Given the description of an element on the screen output the (x, y) to click on. 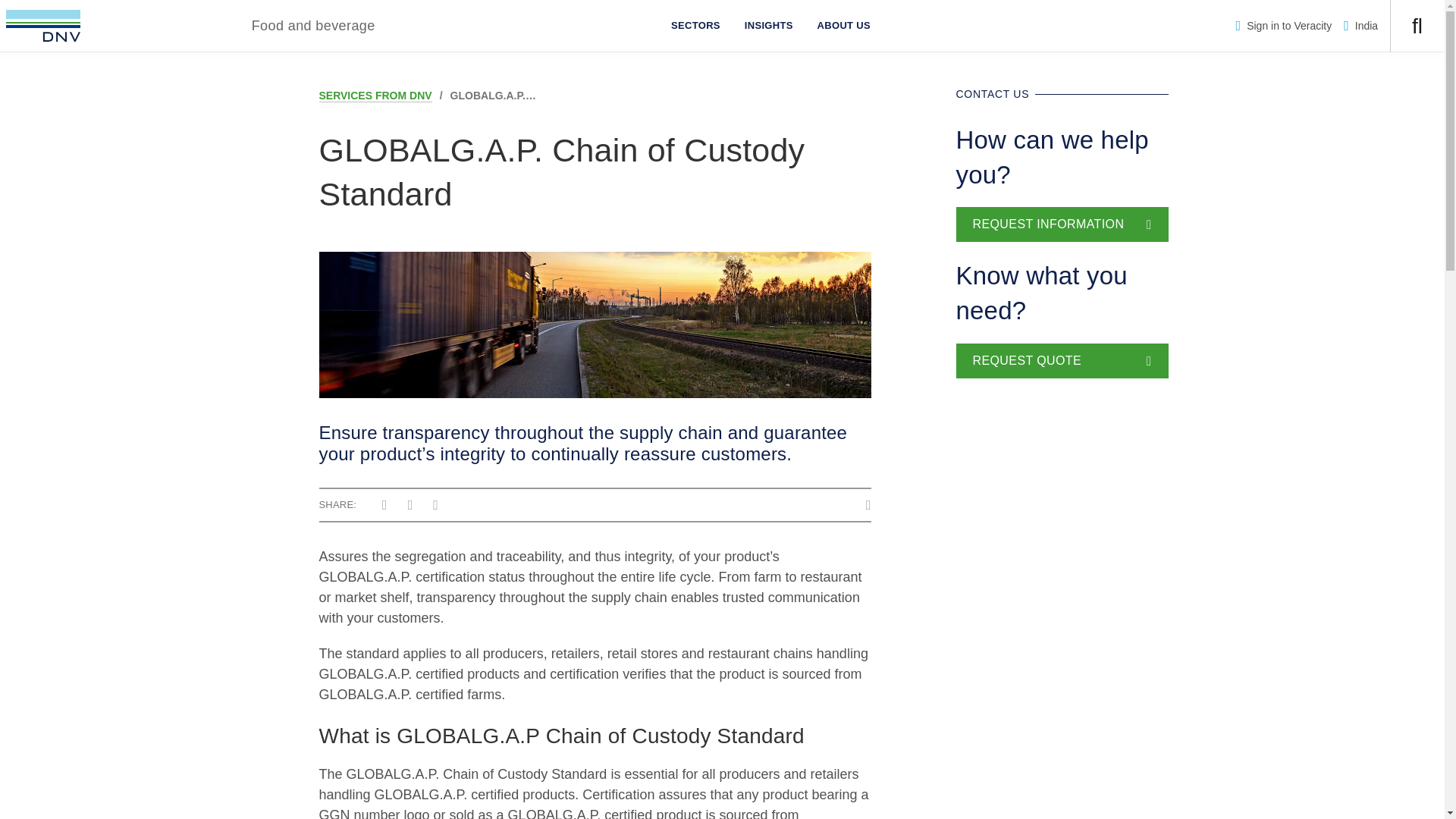
SECTORS (695, 25)
INSIGHTS (768, 25)
ABOUT US (843, 25)
